Given the description of an element on the screen output the (x, y) to click on. 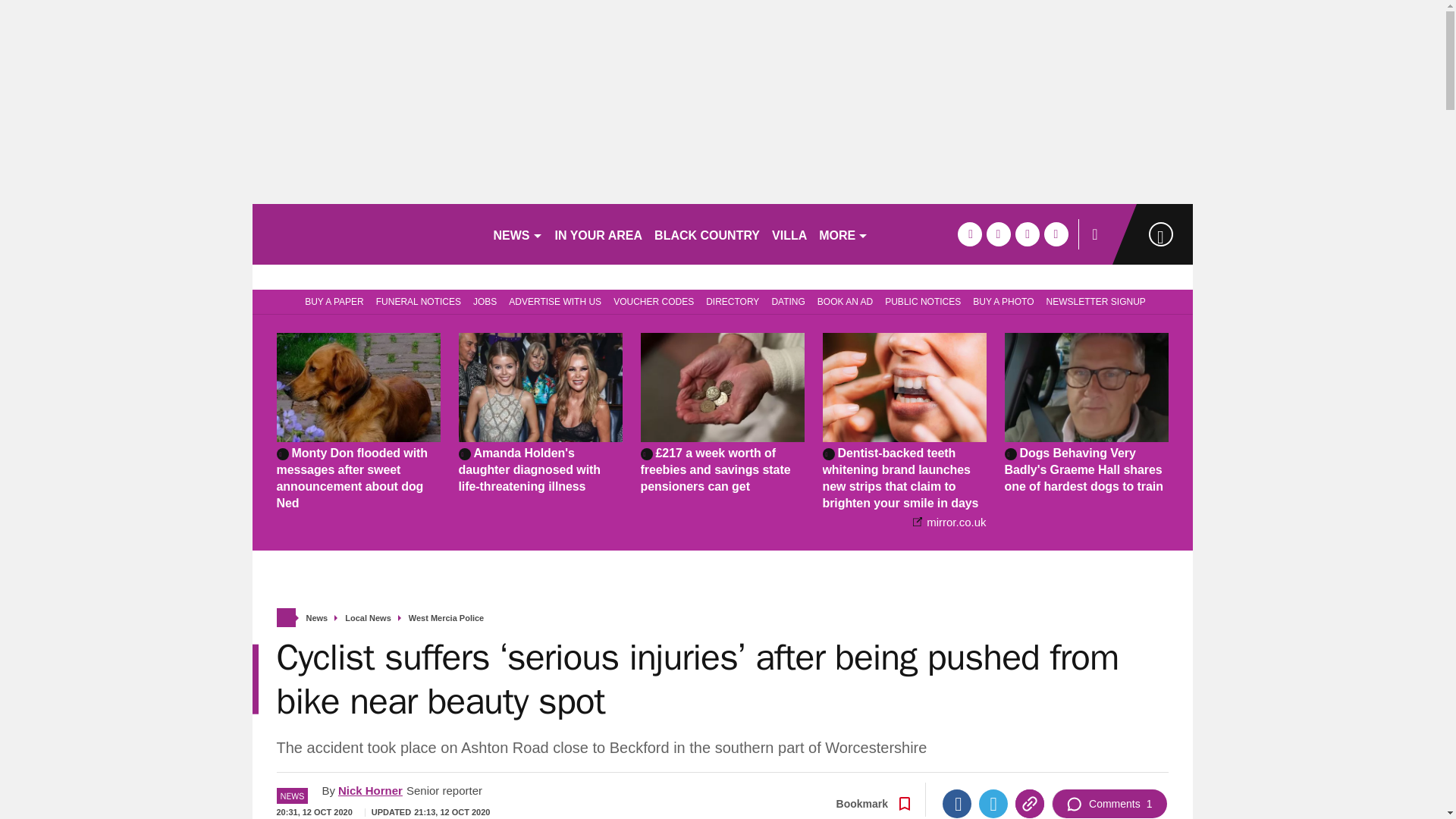
tiktok (1026, 233)
birminghammail (365, 233)
Facebook (956, 803)
instagram (1055, 233)
BLACK COUNTRY (706, 233)
Twitter (992, 803)
Comments (1108, 803)
MORE (843, 233)
IN YOUR AREA (598, 233)
facebook (968, 233)
NEWS (517, 233)
twitter (997, 233)
